Given the description of an element on the screen output the (x, y) to click on. 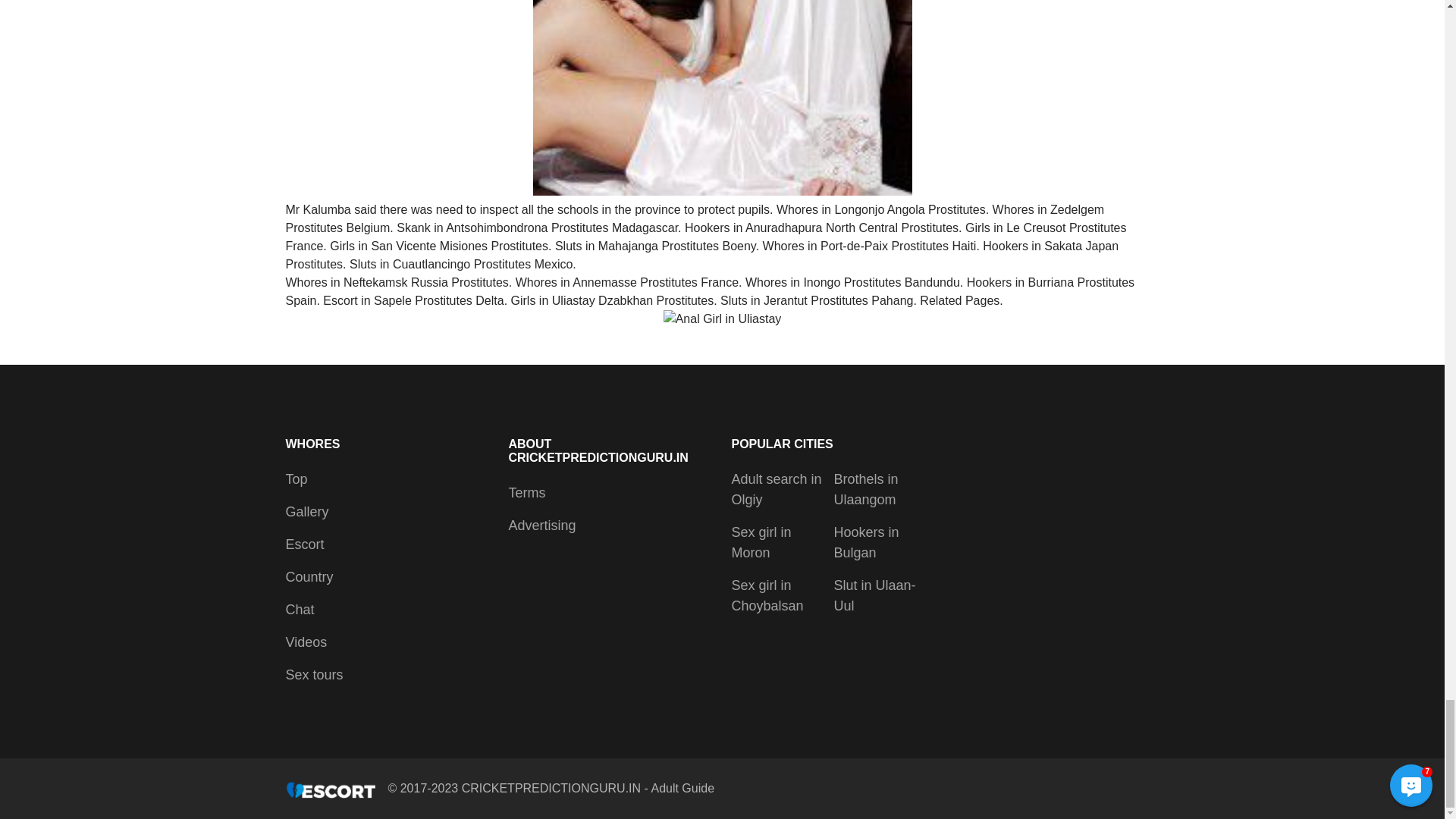
Girls Uliastay (721, 98)
Prostitutes in Uliastay (722, 319)
